Given the description of an element on the screen output the (x, y) to click on. 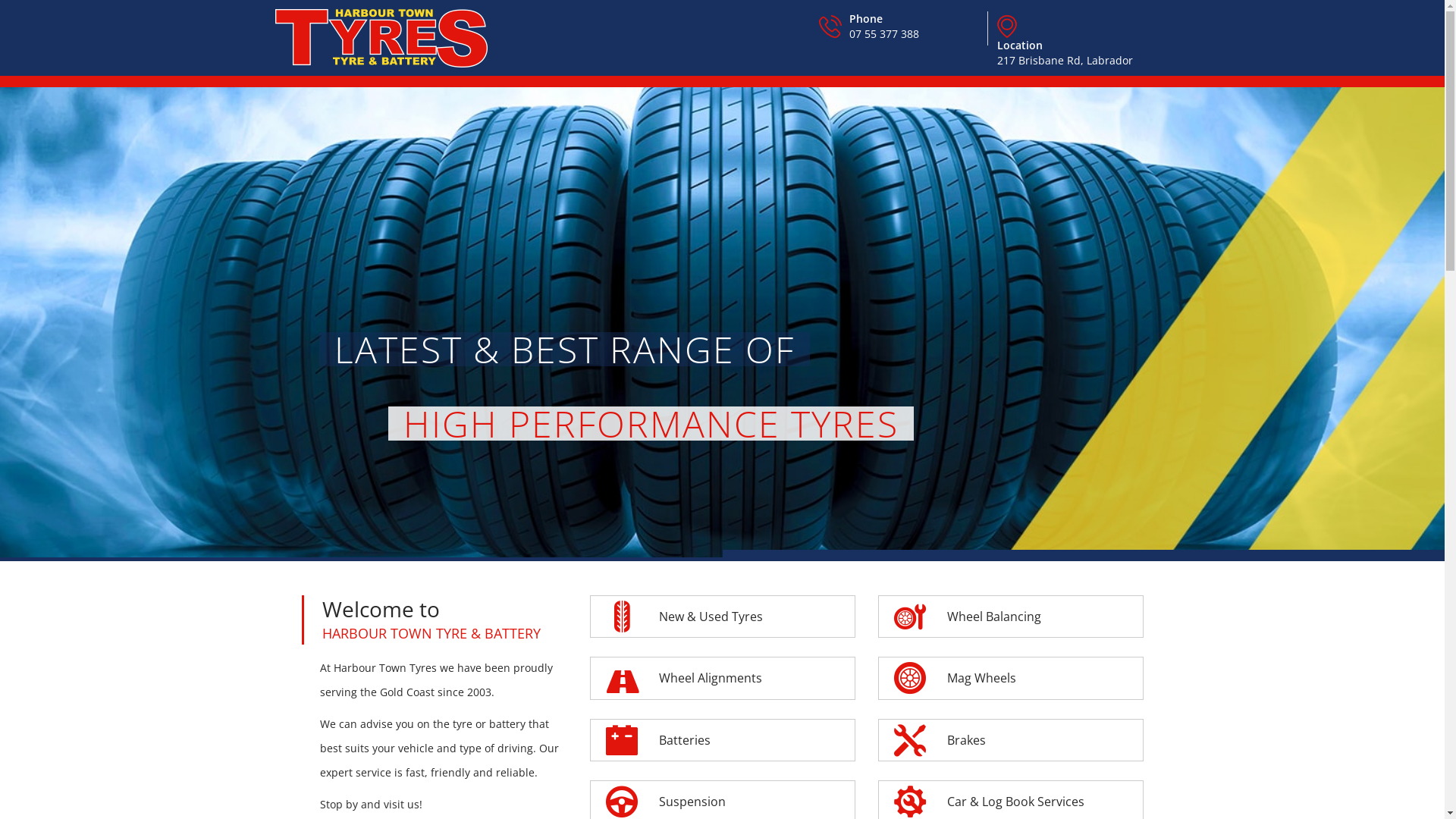
07 55 377 388 Element type: text (884, 33)
Brakes Element type: text (1010, 739)
Wheel Alignments Element type: text (722, 677)
Batteries Element type: text (722, 739)
Mag Wheels Element type: text (1010, 677)
New & Used Tyres Element type: text (722, 616)
Wheel Balancing Element type: text (1010, 616)
217 Brisbane Rd, Labrador Element type: text (1064, 60)
